Given the description of an element on the screen output the (x, y) to click on. 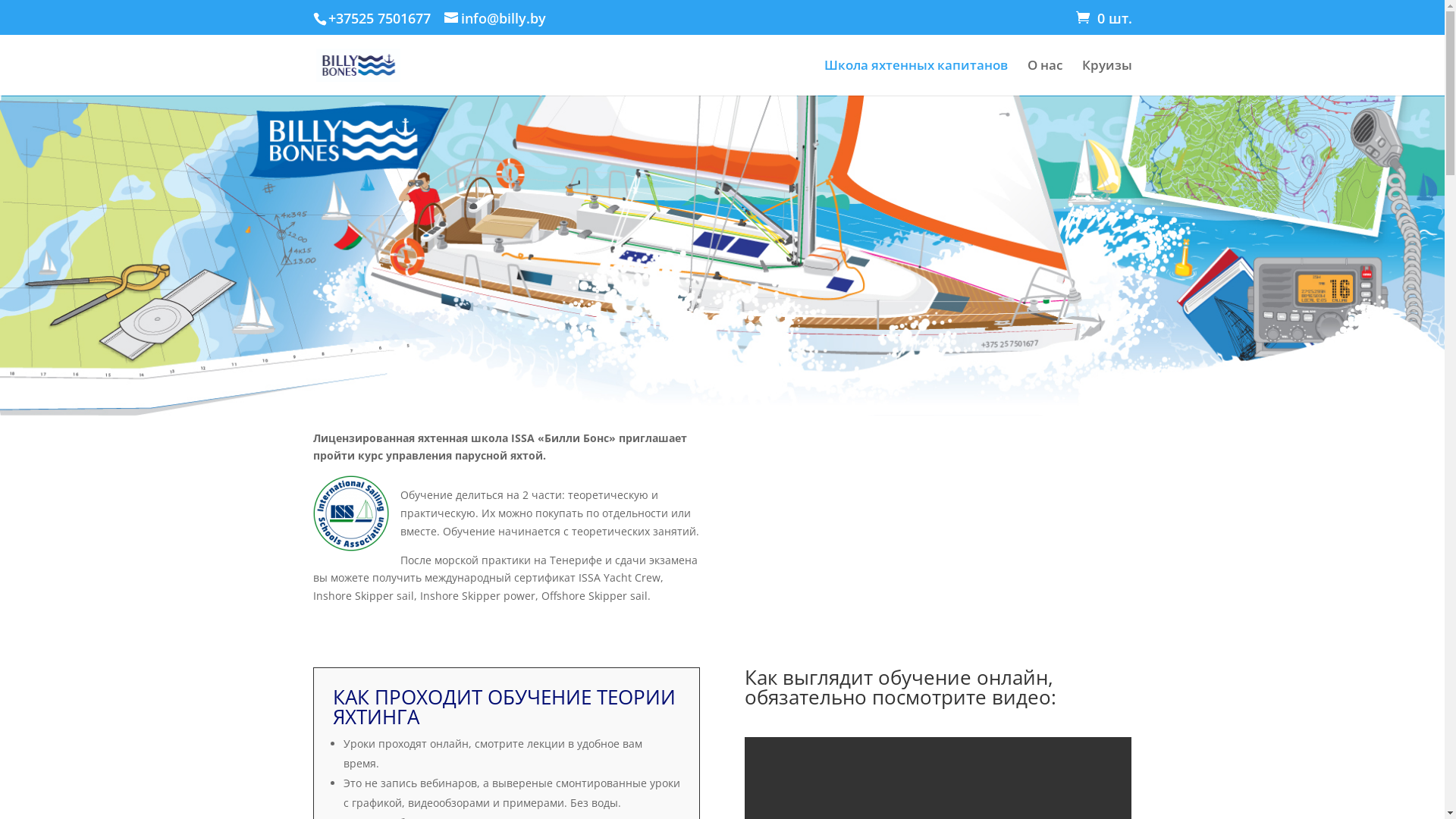
info@billy.by Element type: text (495, 18)
